Given the description of an element on the screen output the (x, y) to click on. 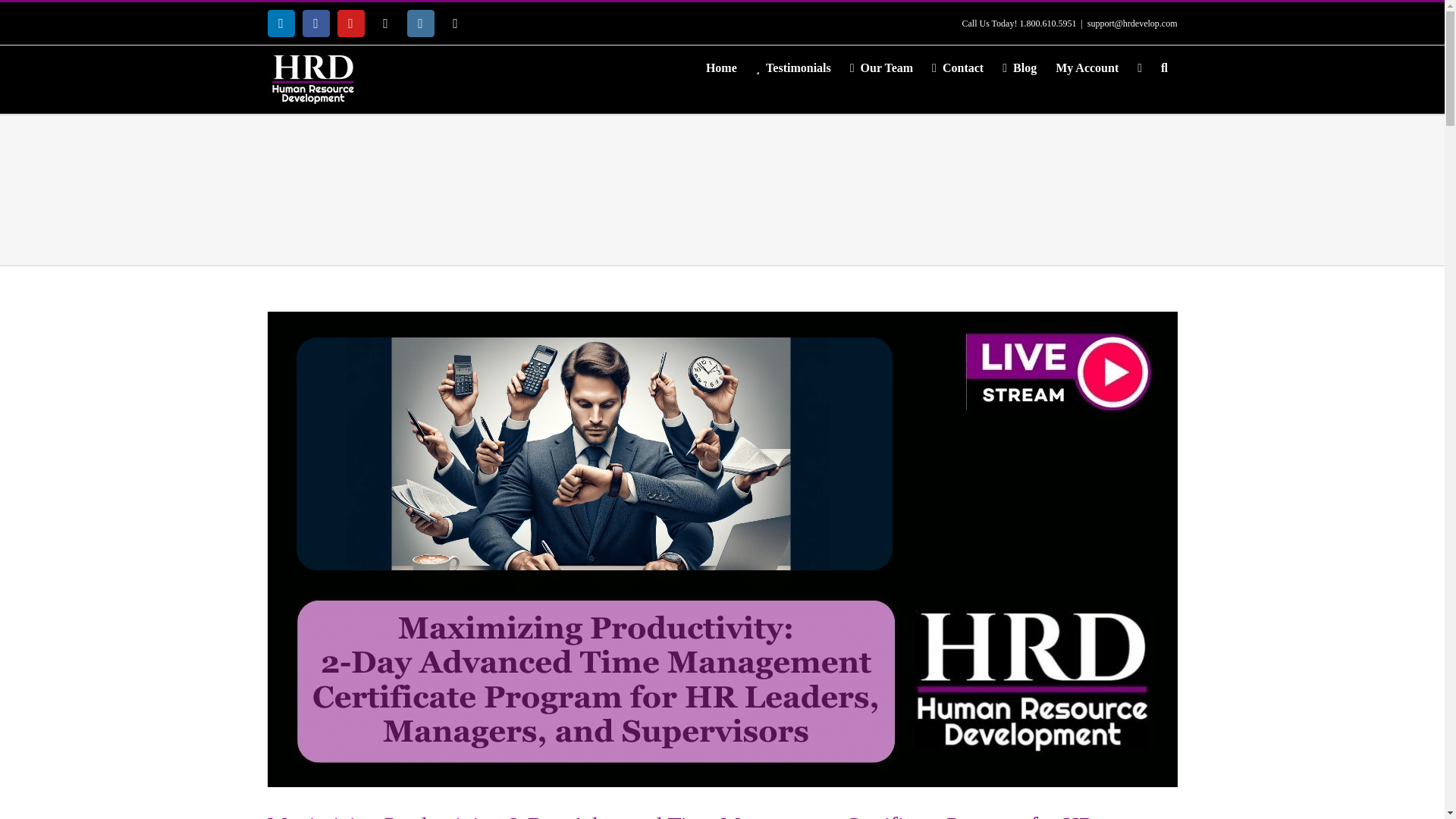
Blog (1019, 67)
Email (454, 22)
YouTube (350, 22)
Instagram (419, 22)
X (384, 22)
Facebook (315, 22)
X (384, 22)
Contact (957, 67)
My Account (1087, 67)
Instagram (419, 22)
